Given the description of an element on the screen output the (x, y) to click on. 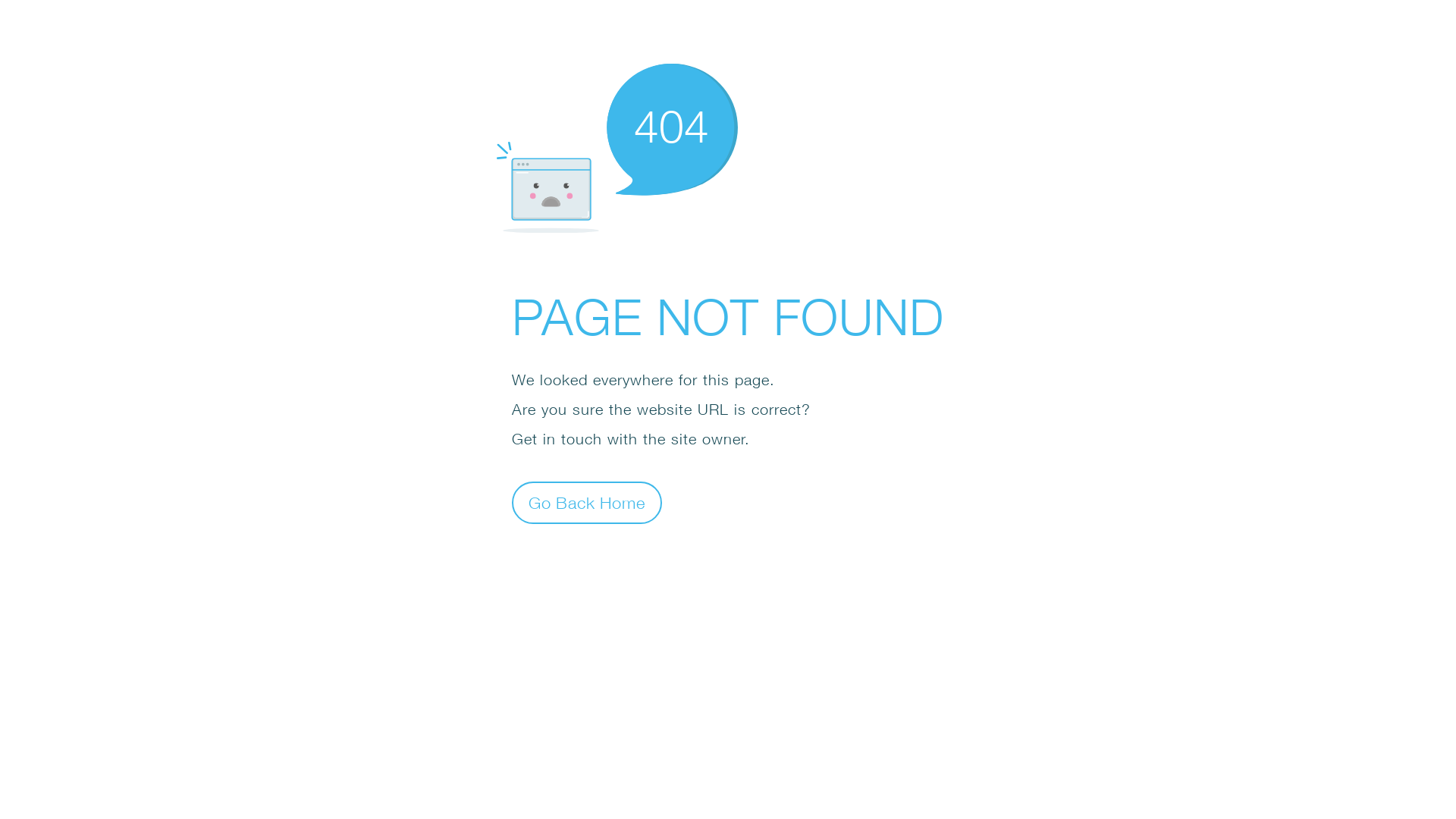
Go Back Home Element type: text (586, 502)
